Given the description of an element on the screen output the (x, y) to click on. 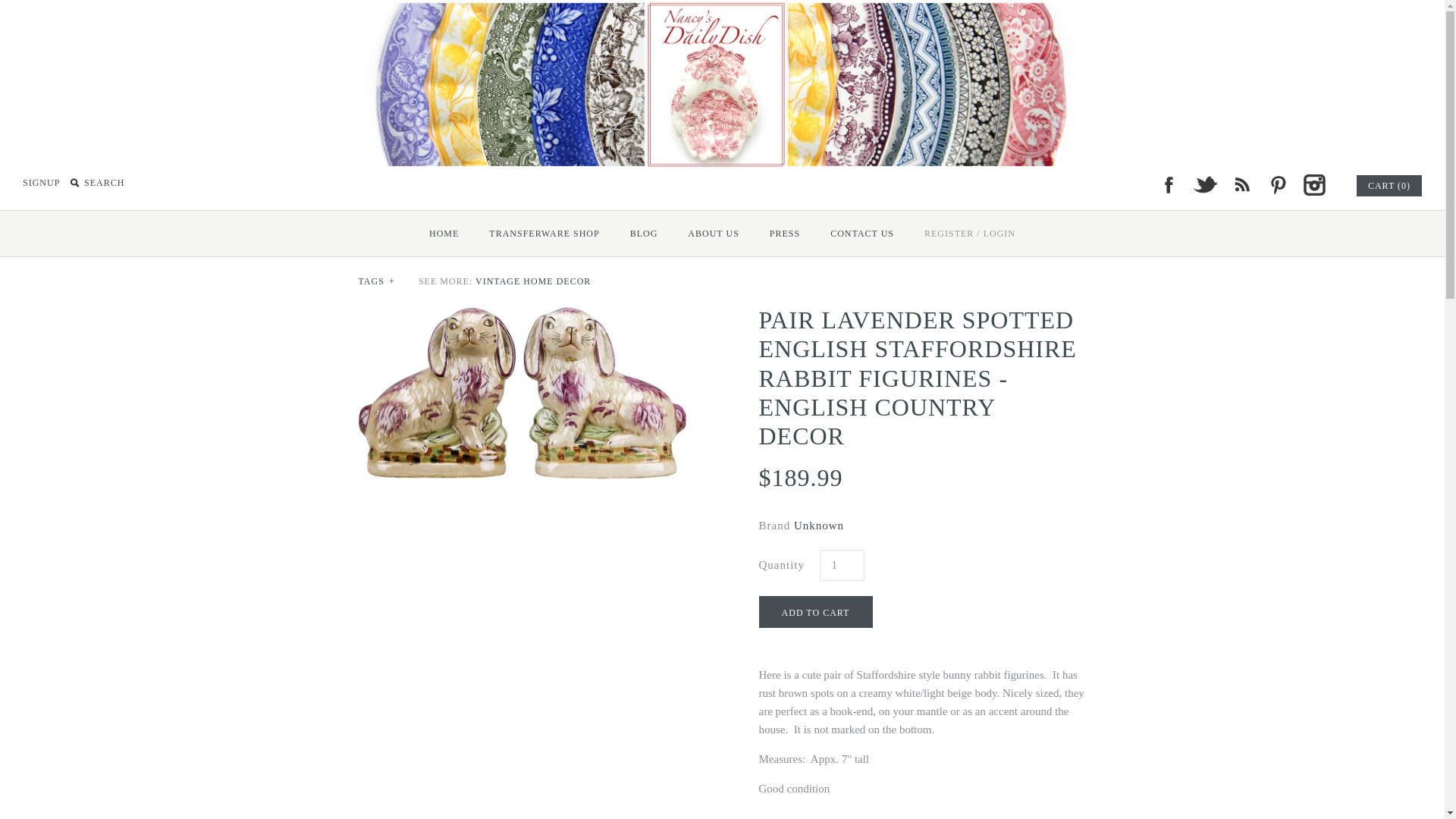
TWITTER (1204, 184)
Nancy's Daily Dish (722, 9)
PRESS (784, 233)
LOGIN (999, 233)
SIGNUP (41, 182)
Add to Cart (815, 612)
CONTACT US (861, 233)
HOME (442, 233)
REGISTER (949, 233)
Facebook (1168, 184)
Pinterest (1277, 184)
1 (840, 564)
Twitter (1204, 184)
RSS (1240, 184)
